Given the description of an element on the screen output the (x, y) to click on. 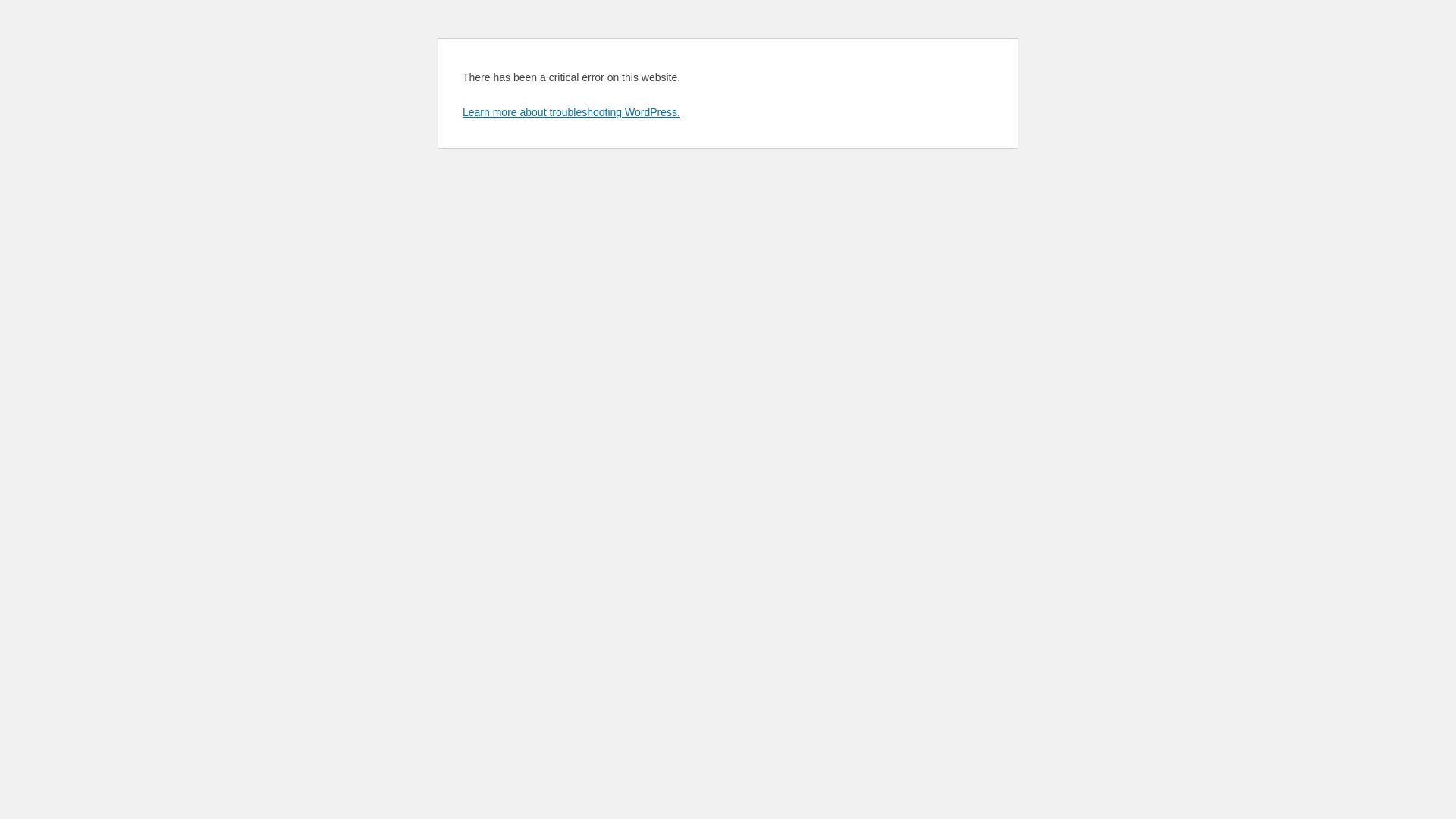
Learn more about troubleshooting WordPress. Element type: text (571, 112)
